Given the description of an element on the screen output the (x, y) to click on. 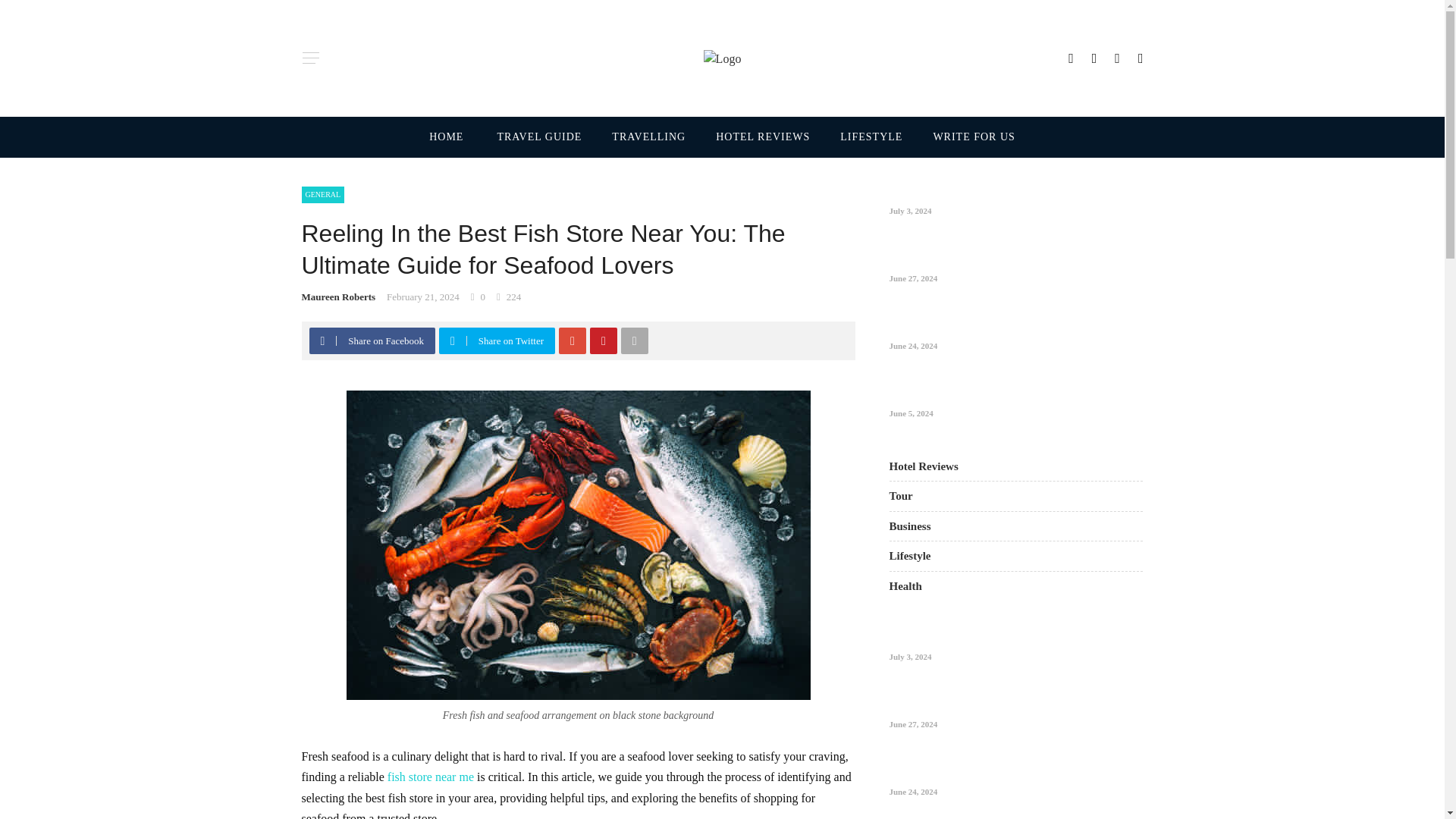
Facebook (322, 340)
HOME (455, 137)
TRAVEL GUIDE (538, 137)
LIFESTYLE (871, 137)
Twitter (451, 340)
WRITE FOR US (965, 137)
HOTEL REVIEWS (762, 137)
Google Plus (572, 340)
TRAVELLING (648, 137)
Pinterest (603, 340)
